Given the description of an element on the screen output the (x, y) to click on. 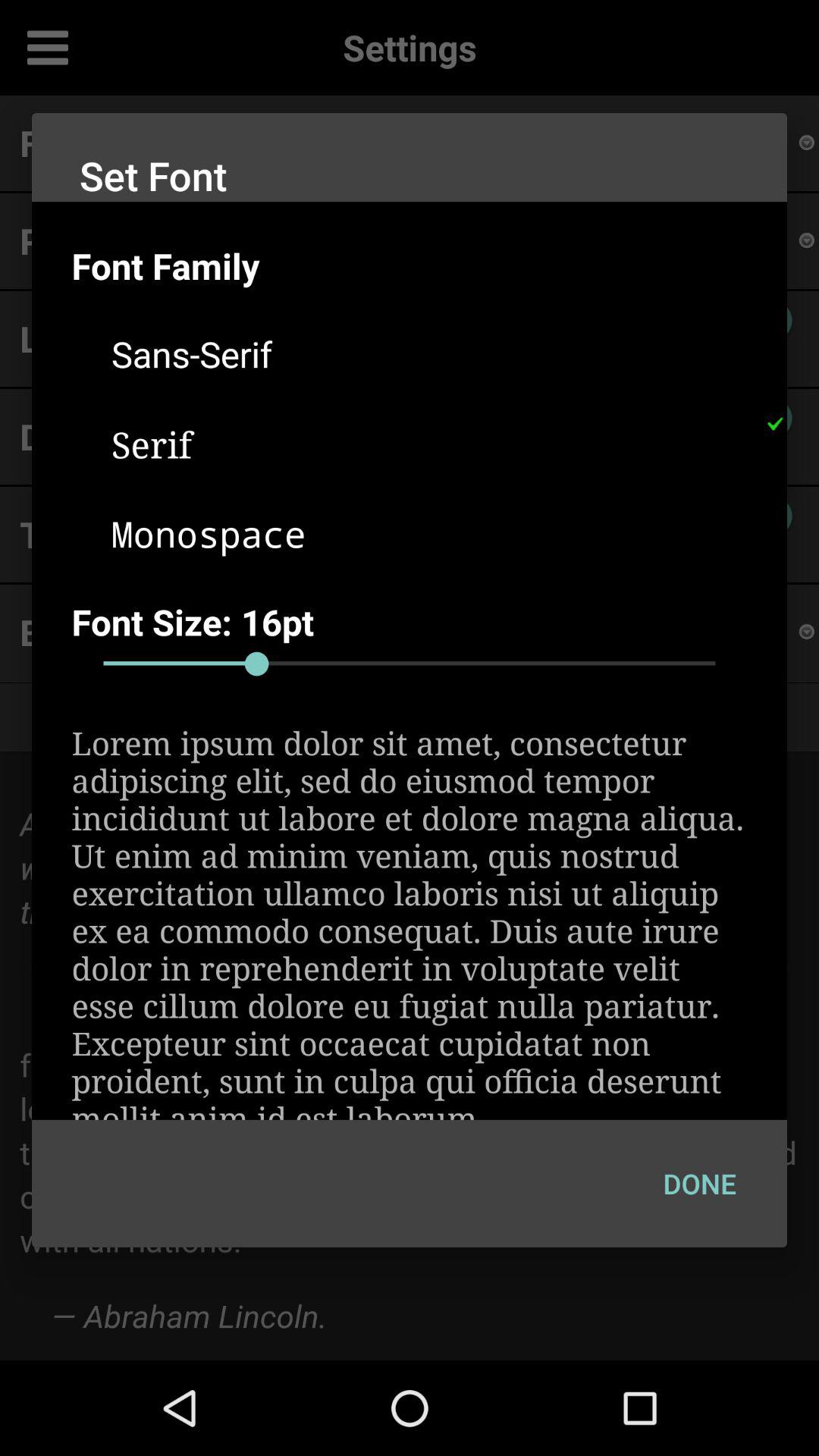
click the item to the right of the serif (774, 423)
